Given the description of an element on the screen output the (x, y) to click on. 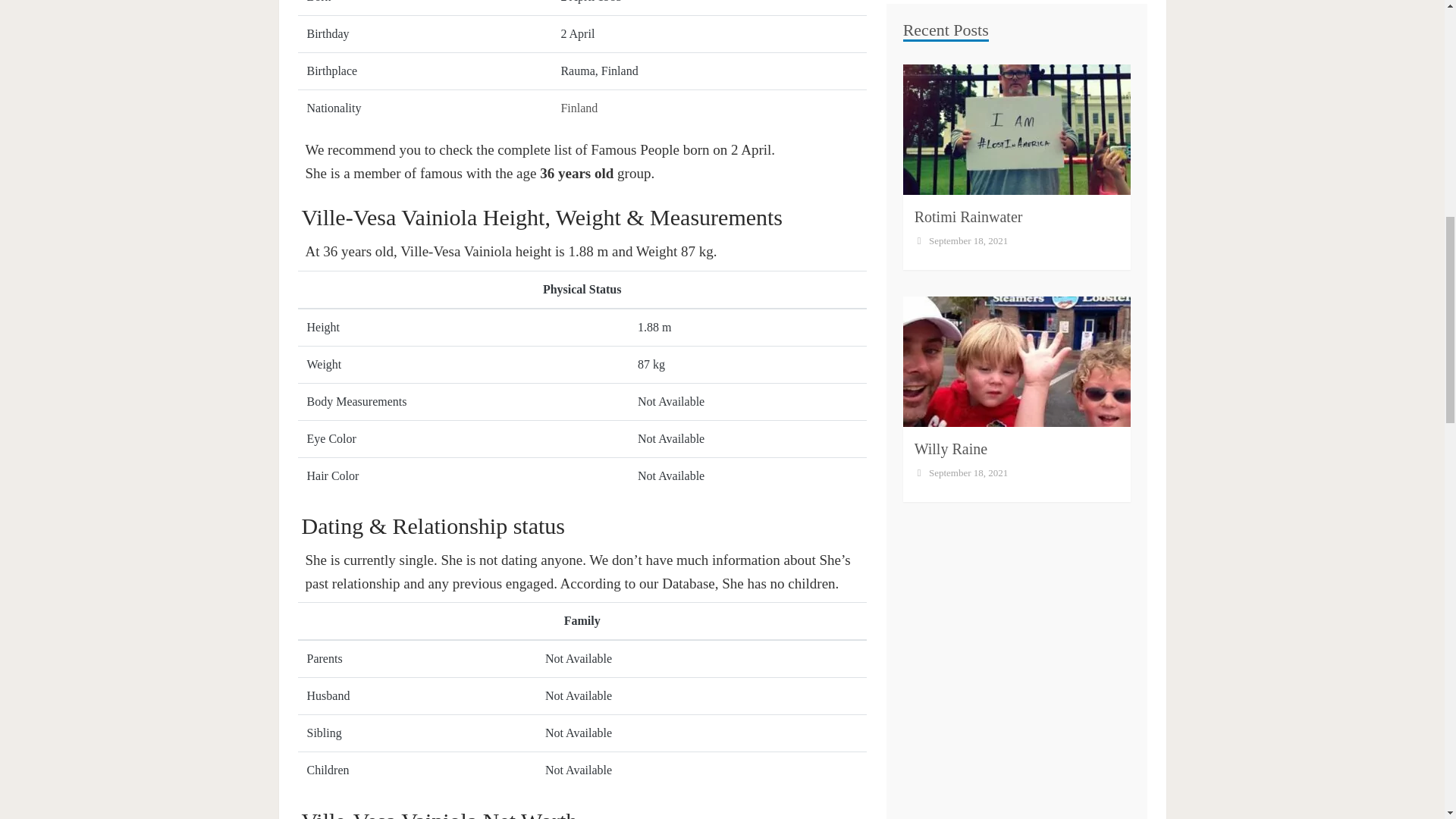
Willy Raine (950, 36)
Willy Raine (950, 36)
Finland (578, 107)
Advertisement (1016, 214)
